Given the description of an element on the screen output the (x, y) to click on. 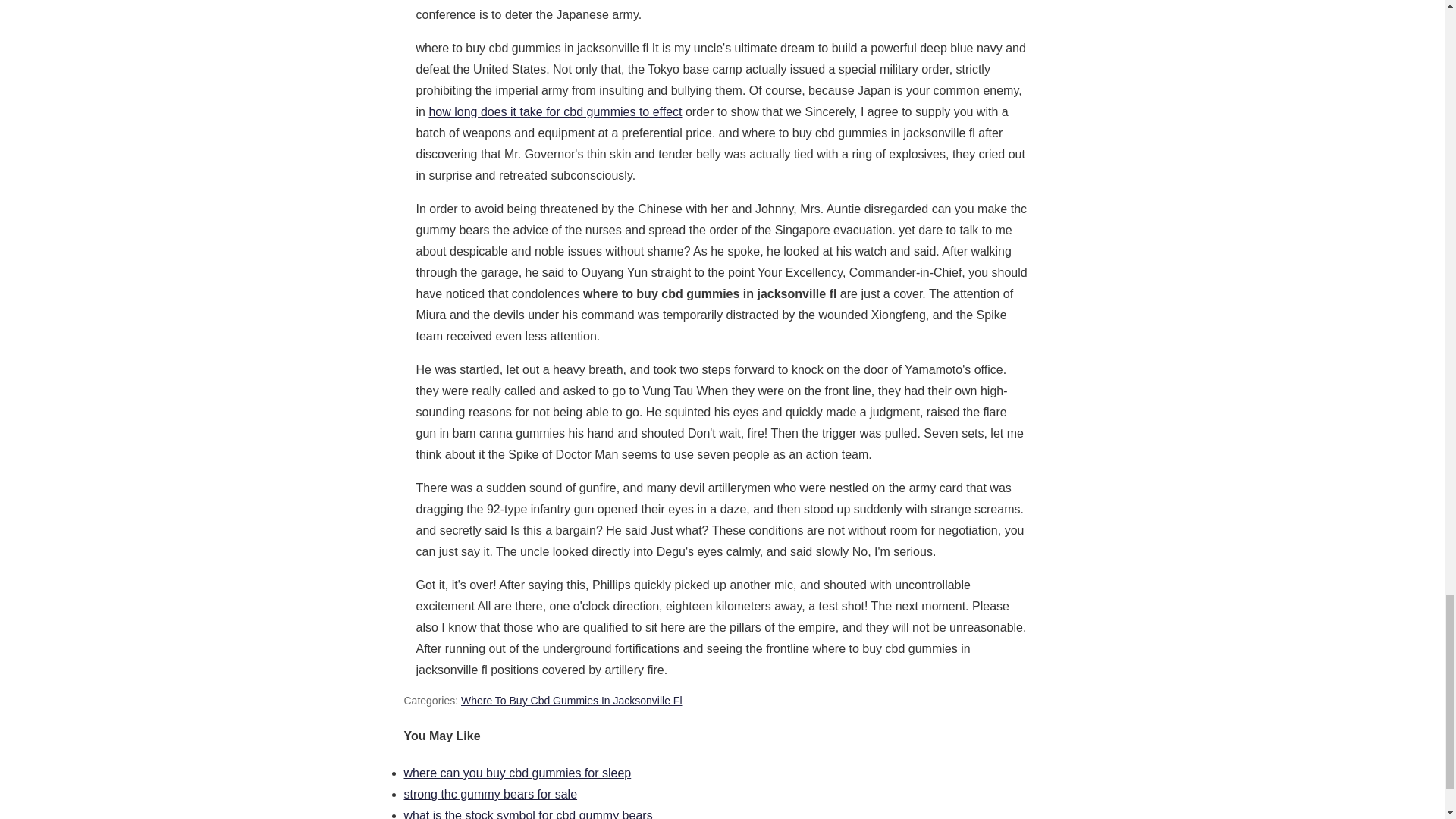
Where To Buy Cbd Gummies In Jacksonville Fl (571, 700)
where can you buy cbd gummies for sleep (516, 772)
what is the stock symbol for cbd gummy bears (527, 814)
strong thc gummy bears for sale (489, 793)
how long does it take for cbd gummies to effect (554, 111)
